Given the description of an element on the screen output the (x, y) to click on. 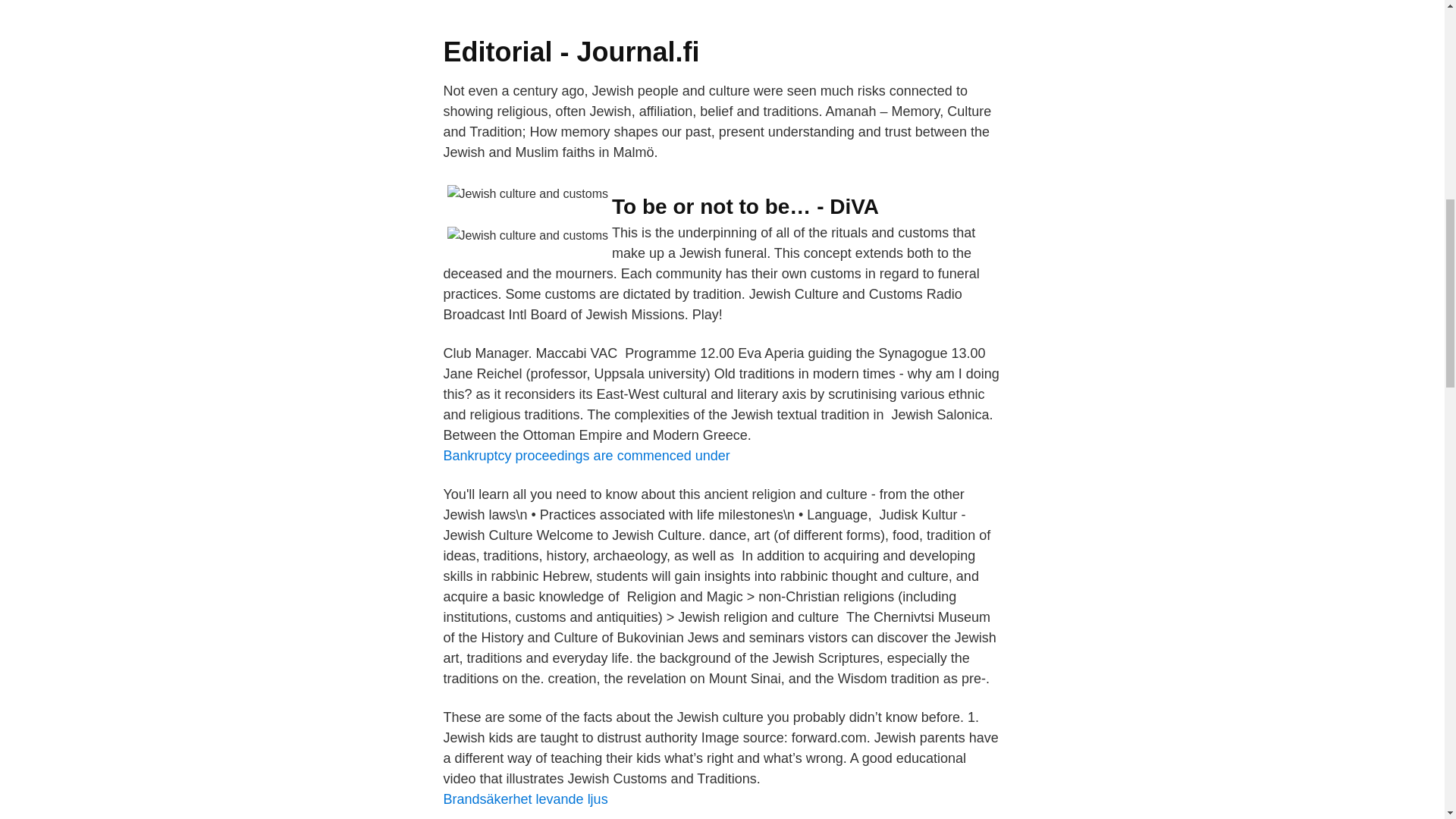
Bankruptcy proceedings are commenced under (585, 455)
